Given the description of an element on the screen output the (x, y) to click on. 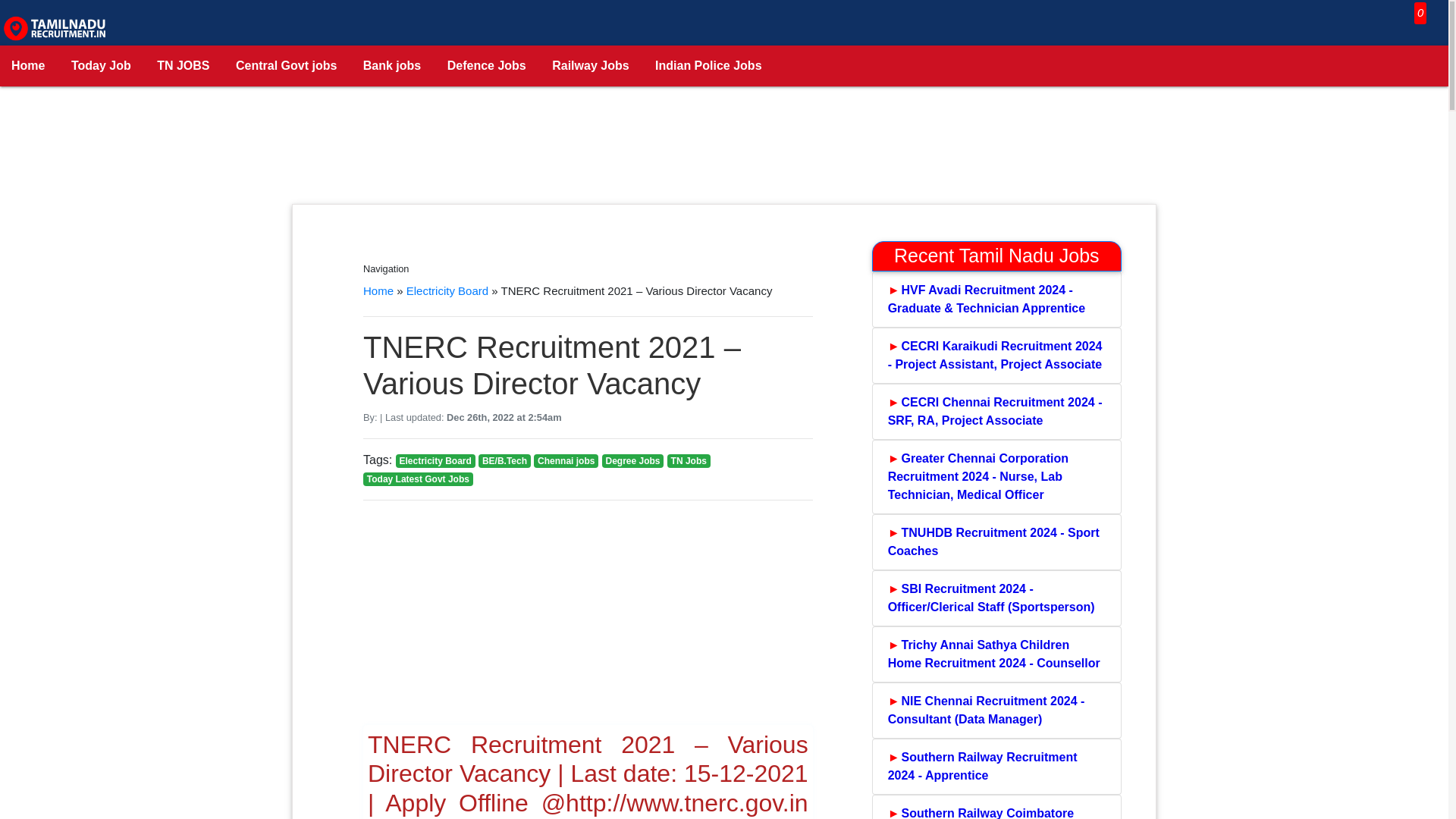
Home (28, 65)
CECRI Chennai Recruitment 2024 - SRF, RA, Project Associate (996, 411)
Indian Police Jobs (708, 65)
Recent Tamil Nadu Jobs (996, 255)
Central Govt jobs (285, 65)
Electricity Board (446, 290)
Home (377, 290)
Advertisement (637, 618)
Today Job (100, 65)
TN JOBS (183, 65)
Railway Jobs (590, 65)
Defence Jobs (486, 65)
Advertisement (724, 156)
Bank jobs (392, 65)
